Given the description of an element on the screen output the (x, y) to click on. 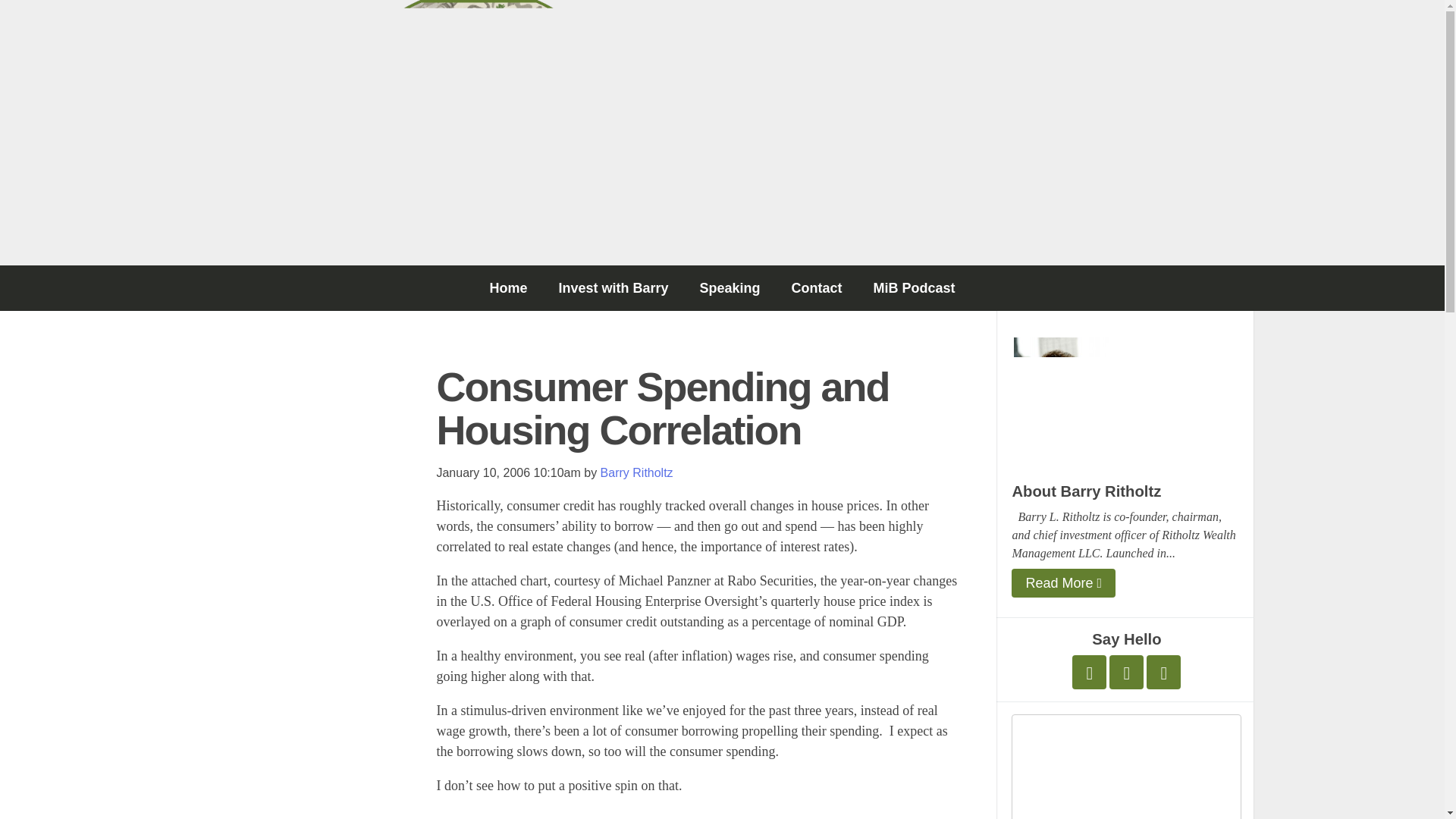
Posts by Barry Ritholtz (635, 472)
LinkedIn (1163, 672)
Barry Ritholtz (635, 472)
Invest with Barry (612, 288)
Read More (1063, 582)
Facebook (1125, 672)
Contact (816, 288)
MiB Podcast (914, 288)
Home (508, 288)
Speaking (729, 288)
Twitter (1088, 672)
